Given the description of an element on the screen output the (x, y) to click on. 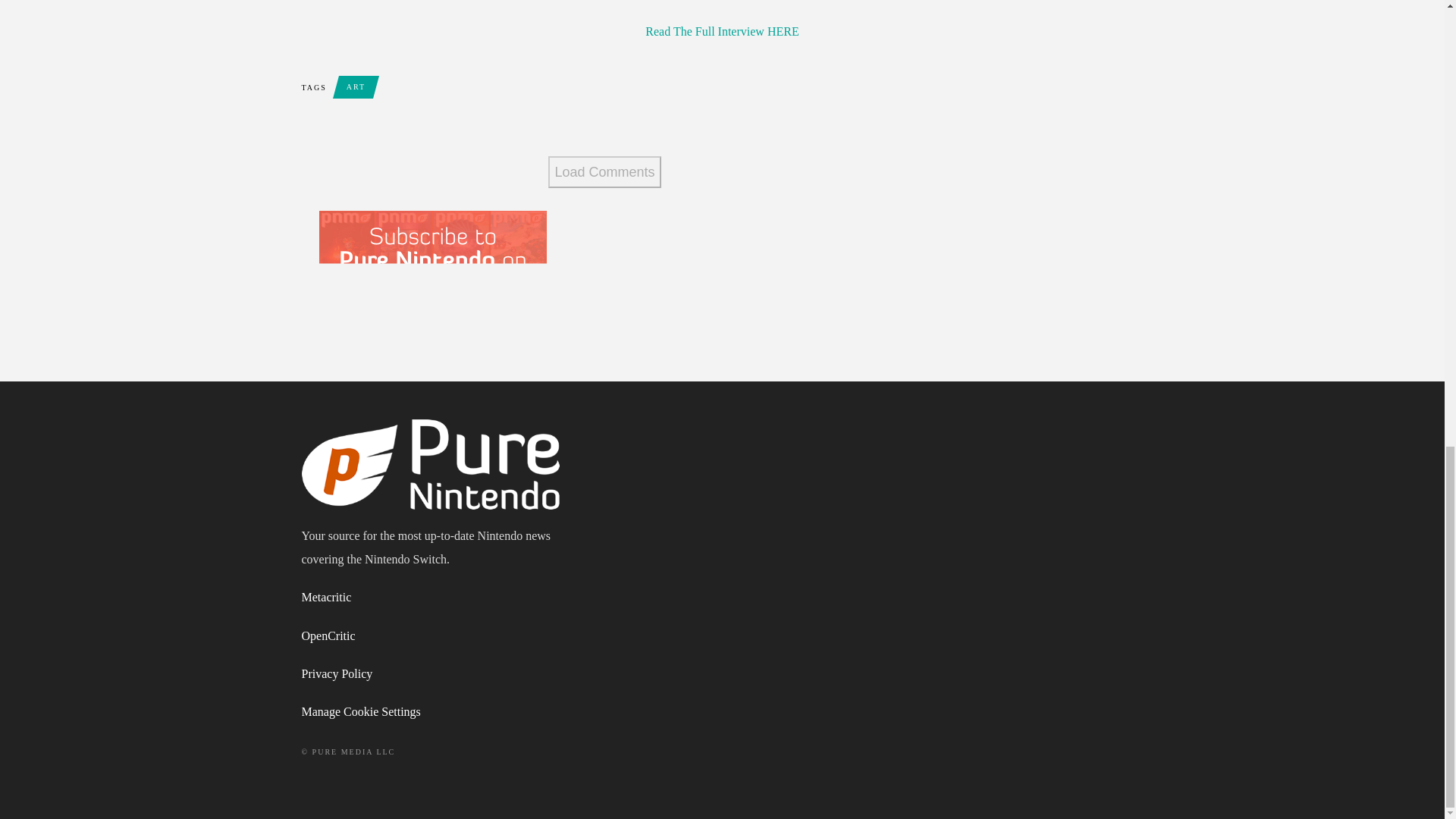
Manage Cookie Settings (360, 711)
Pure Nintendo Patreon (432, 276)
ART (355, 87)
Load Comments (604, 172)
Metacritic (326, 596)
Privacy Policy (336, 673)
Read The Full Interview HERE (721, 31)
OpenCritic (328, 635)
